Given the description of an element on the screen output the (x, y) to click on. 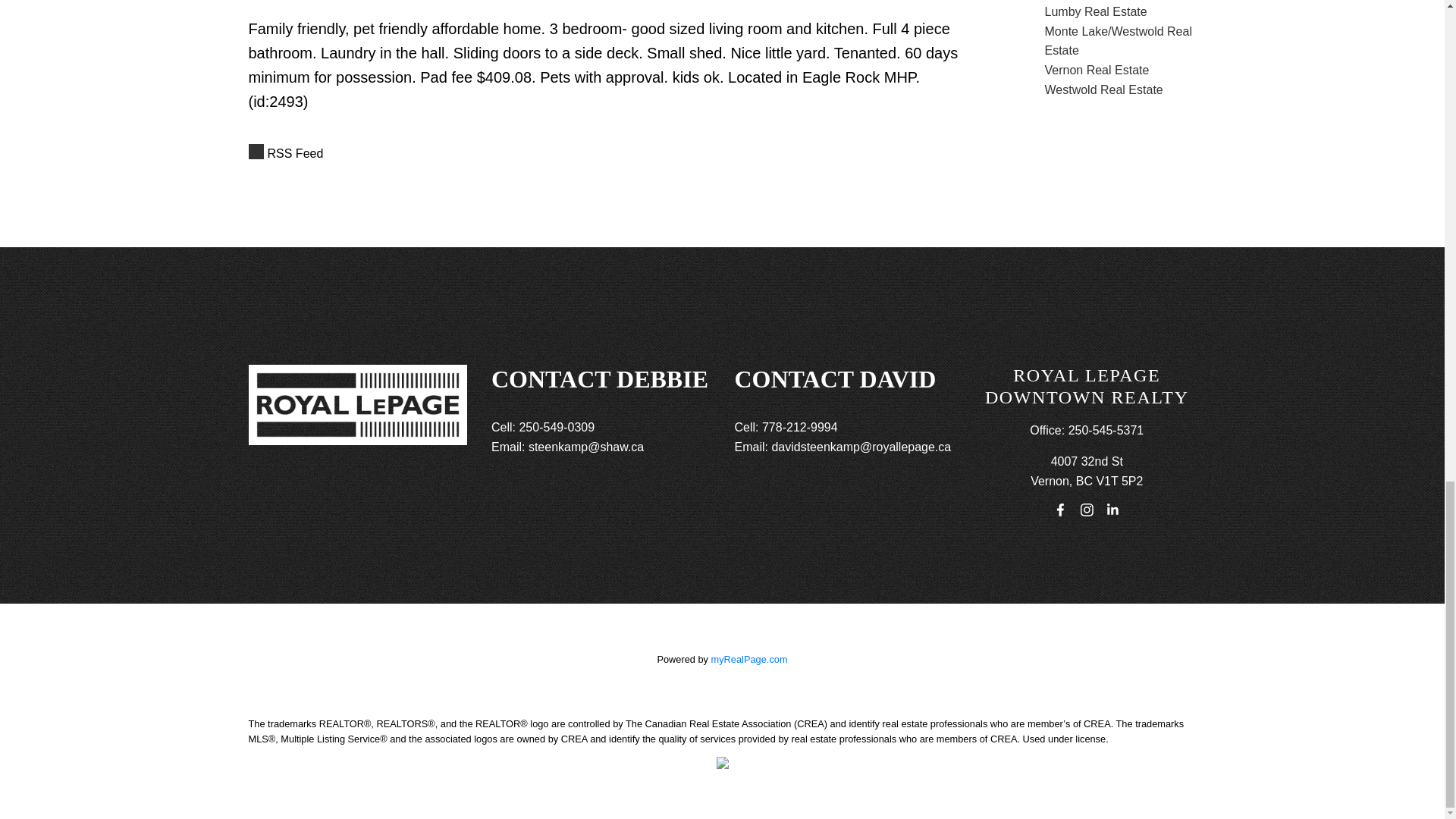
Facebook (1060, 509)
Instagram (1086, 509)
LinkedIn (1113, 509)
RSS (616, 153)
